Given the description of an element on the screen output the (x, y) to click on. 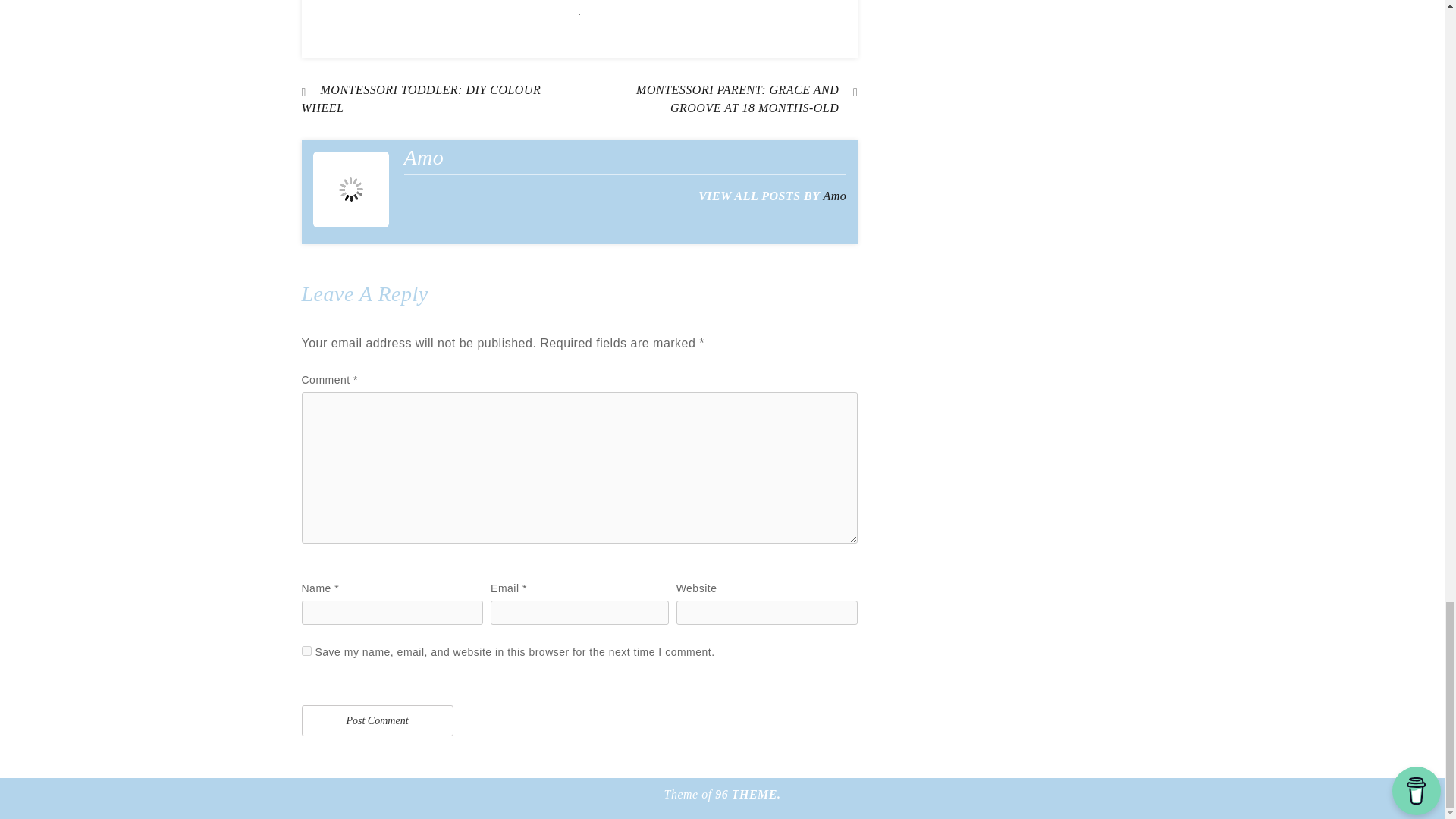
MONTESSORI PARENT: GRACE AND GROOVE AT 18 MONTHS-OLD (718, 99)
Post Comment (376, 720)
Post Comment (376, 720)
yes (306, 651)
96 THEME. (747, 793)
Amo (833, 195)
MONTESSORI TODDLER: DIY COLOUR WHEEL (421, 98)
